Given the description of an element on the screen output the (x, y) to click on. 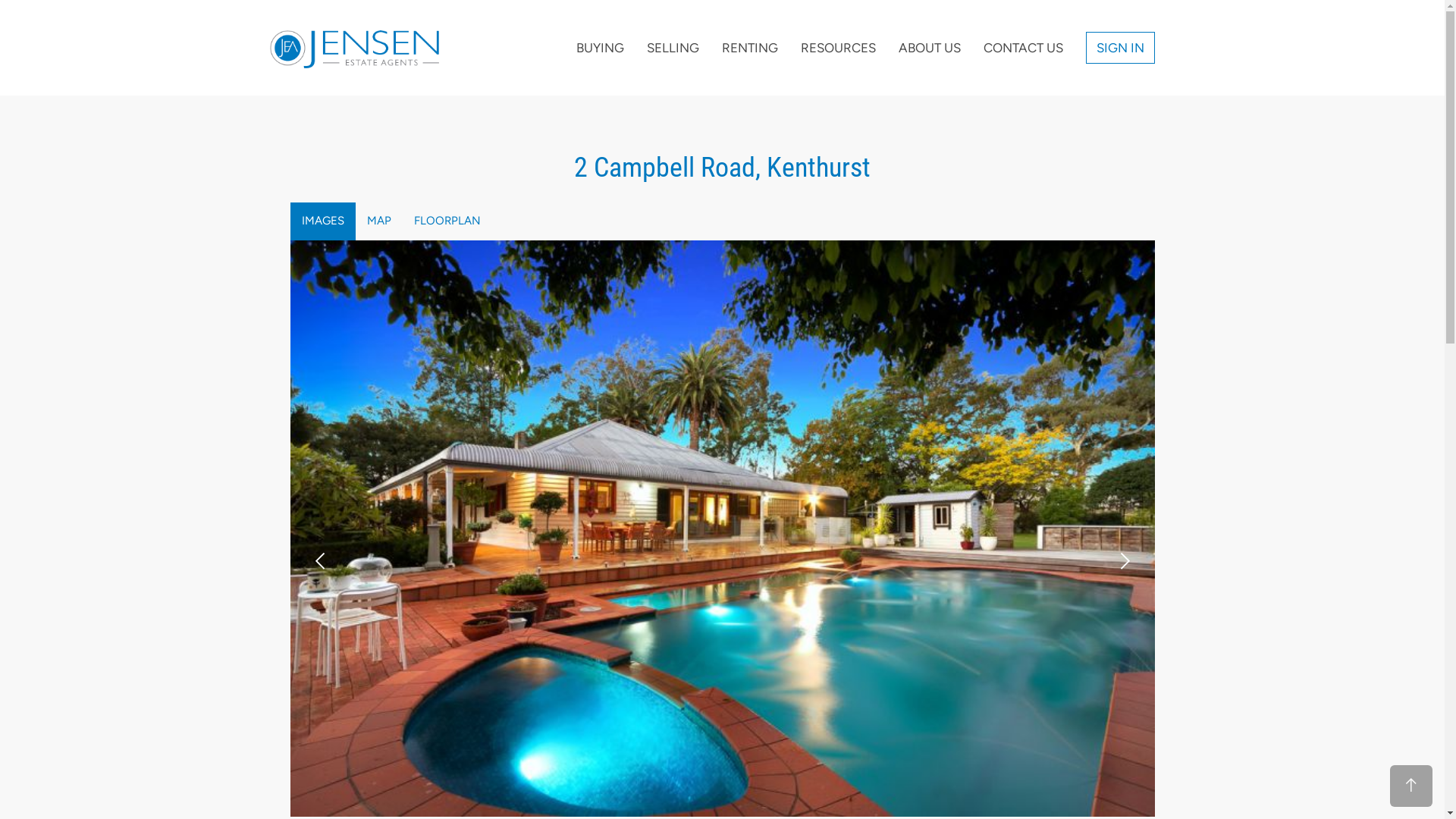
next Element type: text (1123, 560)
prev Element type: text (320, 560)
CONTACT US Element type: text (1023, 47)
FLOORPLAN Element type: text (446, 221)
SELLING Element type: text (672, 47)
SIGN IN Element type: text (1119, 47)
BUYING Element type: text (599, 47)
ABOUT US Element type: text (929, 47)
IMAGES Element type: text (321, 221)
RENTING Element type: text (748, 47)
MAP Element type: text (377, 221)
RESOURCES Element type: text (837, 47)
